Given the description of an element on the screen output the (x, y) to click on. 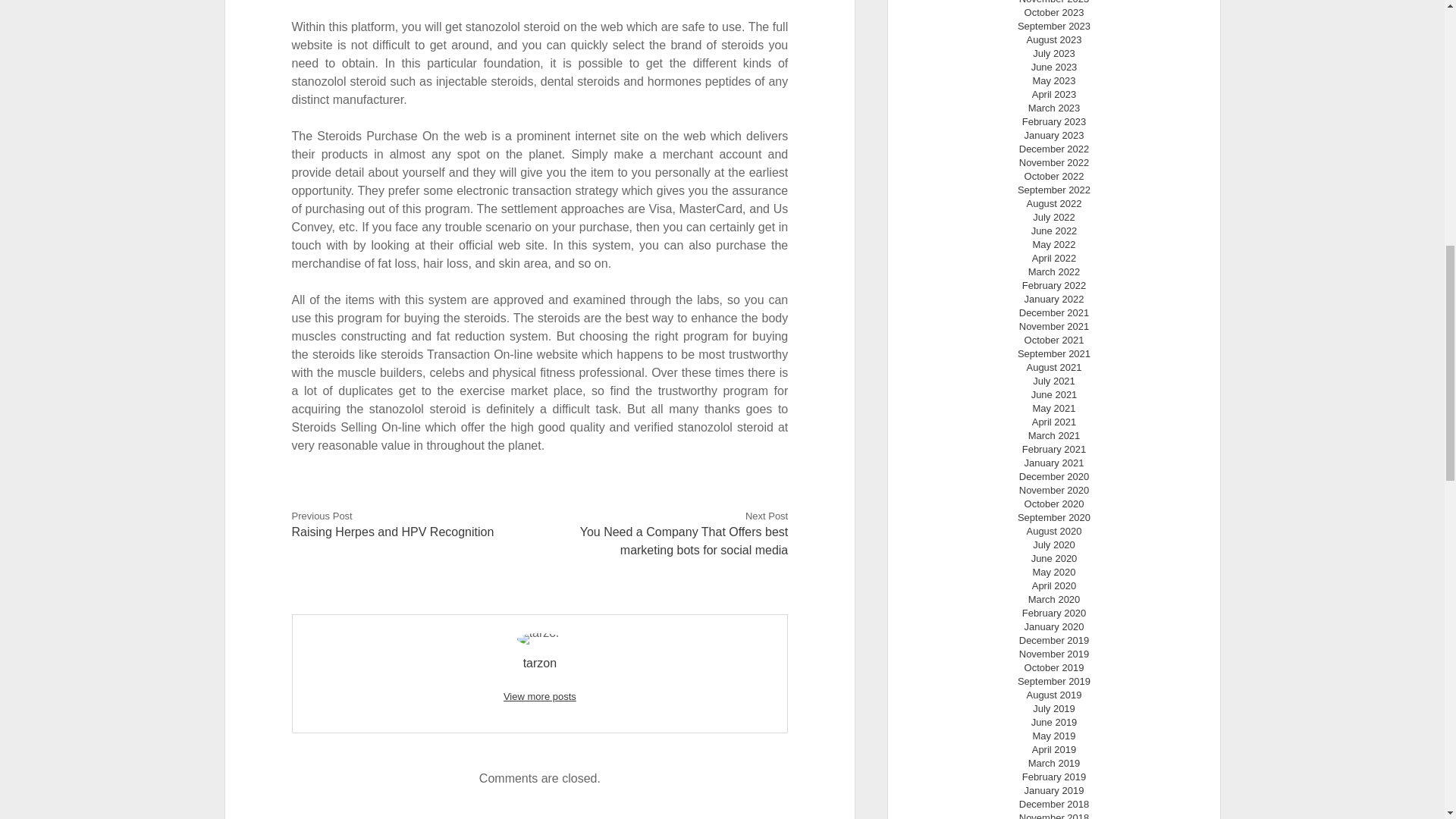
November 2023 (1054, 2)
July 2023 (1053, 52)
August 2023 (1053, 39)
View more posts (539, 696)
September 2023 (1053, 25)
June 2023 (1053, 66)
October 2023 (1054, 12)
Raising Herpes and HPV Recognition (393, 531)
